Given the description of an element on the screen output the (x, y) to click on. 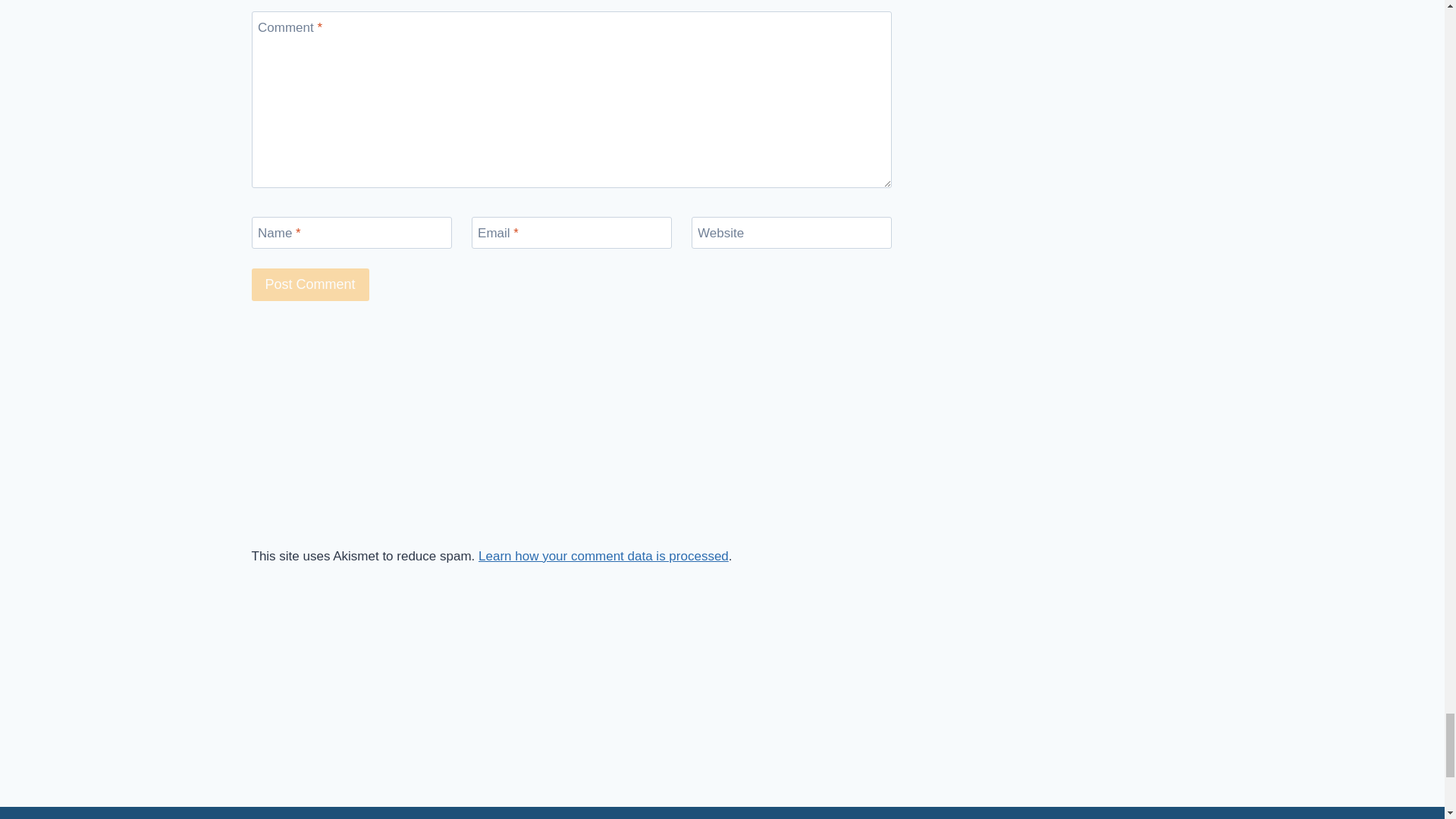
Post Comment (310, 284)
